Given the description of an element on the screen output the (x, y) to click on. 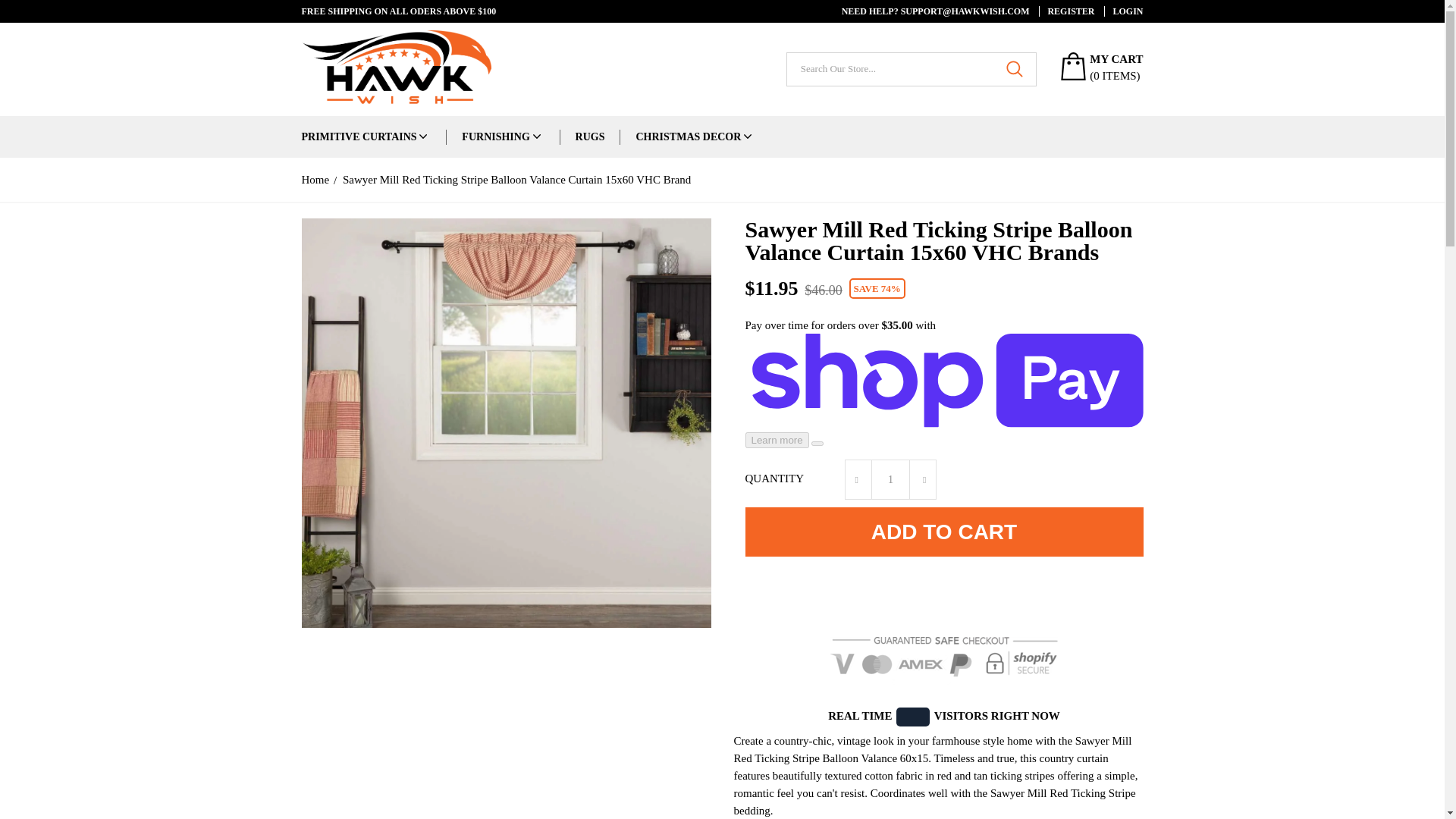
CHRISTMAS DECOR (687, 136)
RUGS (590, 136)
PRIMITIVE CURTAINS (358, 136)
1 (890, 479)
FURNISHING (495, 136)
LOGIN (1122, 10)
REGISTER (1066, 10)
